Given the description of an element on the screen output the (x, y) to click on. 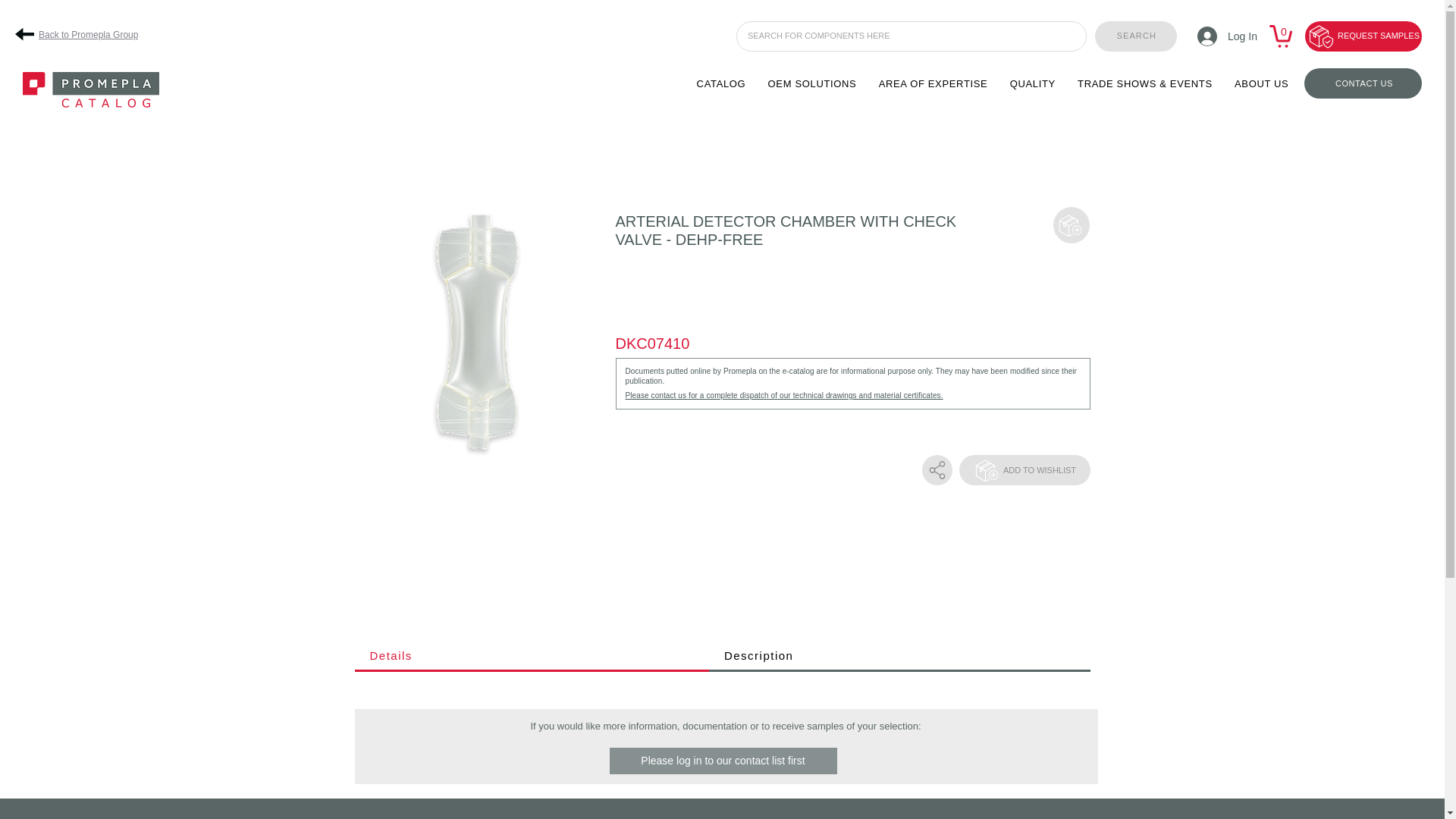
CONTACT US (1363, 82)
OEM SOLUTIONS (812, 83)
SEARCH (1135, 36)
AREA OF EXPERTISE (932, 83)
Log In (1221, 36)
REQUEST SAMPLES (1363, 36)
Back to Promepla Group (82, 34)
